Given the description of an element on the screen output the (x, y) to click on. 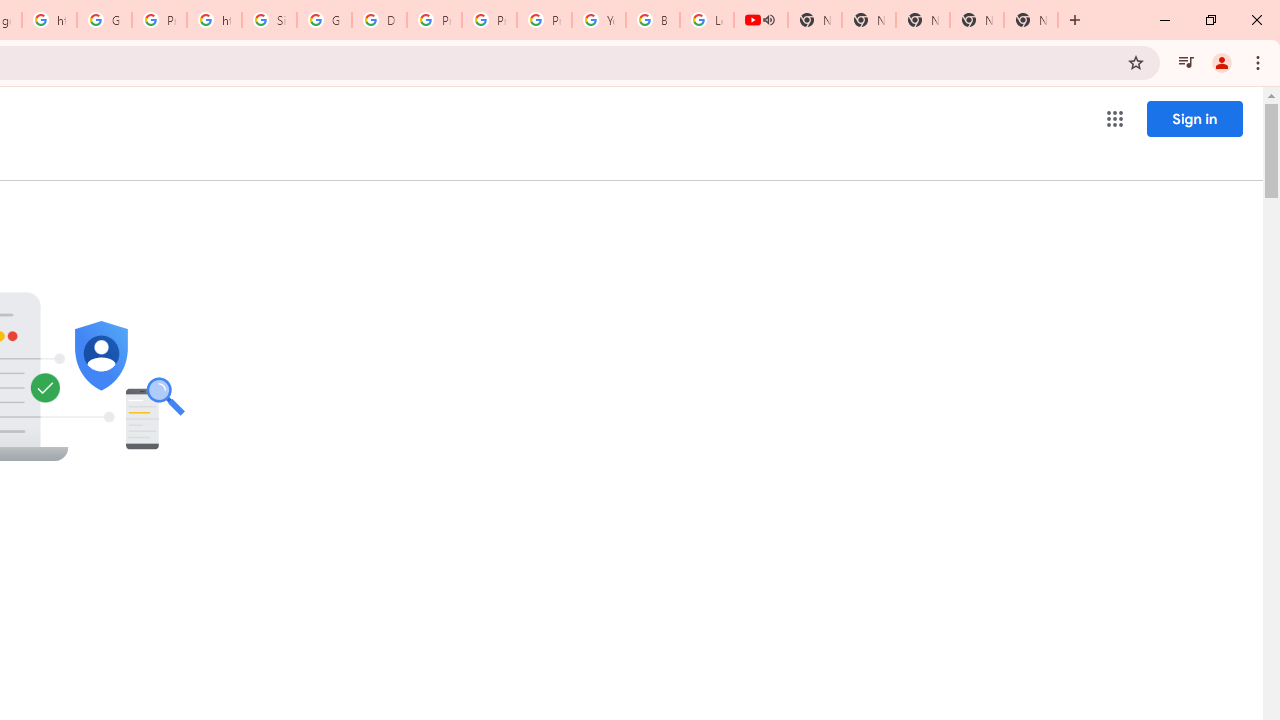
Privacy Help Center - Policies Help (434, 20)
Privacy Help Center - Policies Help (489, 20)
YouTube (598, 20)
Mute tab (768, 20)
Sign in - Google Accounts (268, 20)
